Given the description of an element on the screen output the (x, y) to click on. 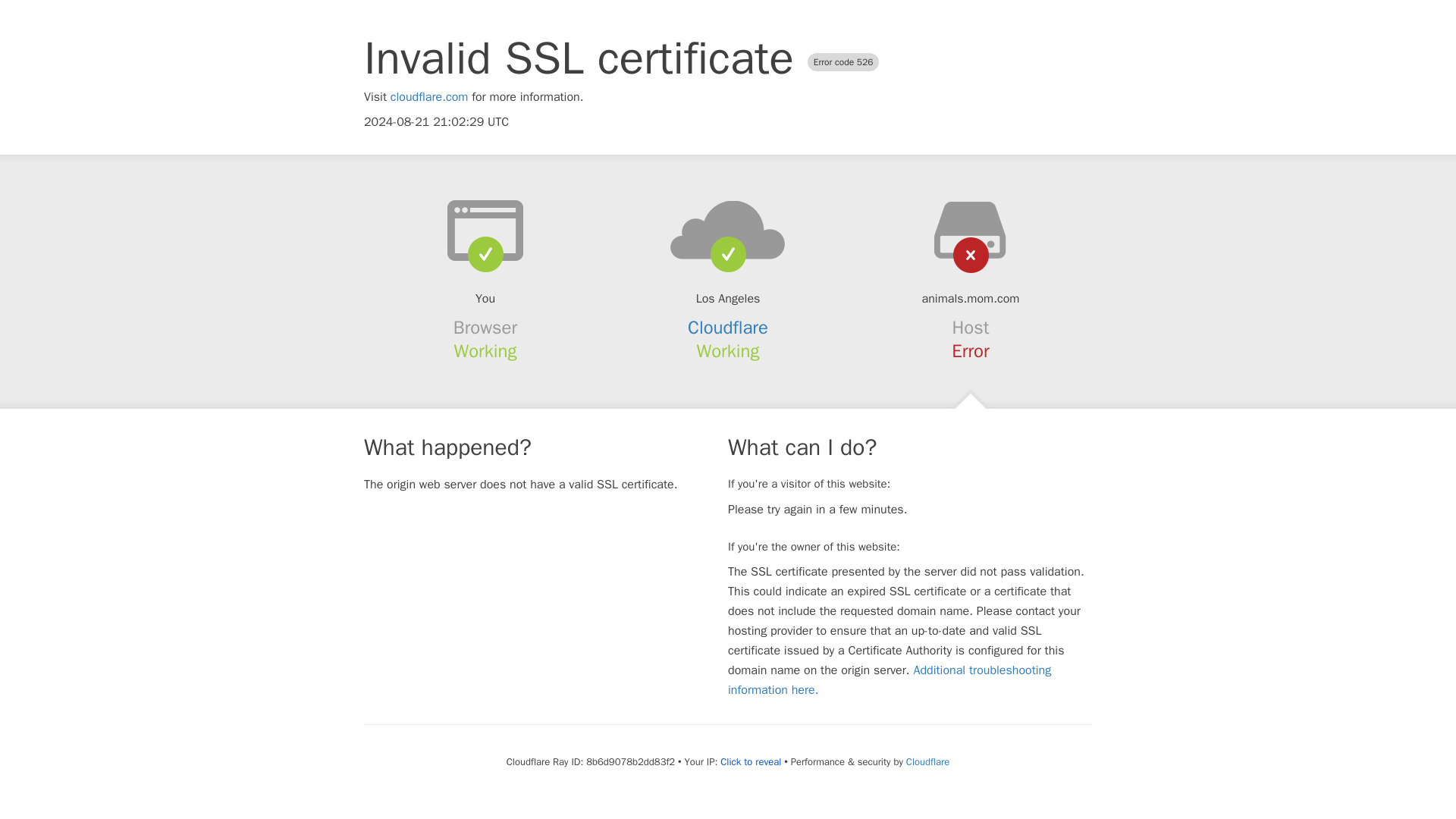
cloudflare.com (429, 96)
Additional troubleshooting information here. (889, 679)
Cloudflare (927, 761)
Click to reveal (750, 762)
Cloudflare (727, 327)
